Given the description of an element on the screen output the (x, y) to click on. 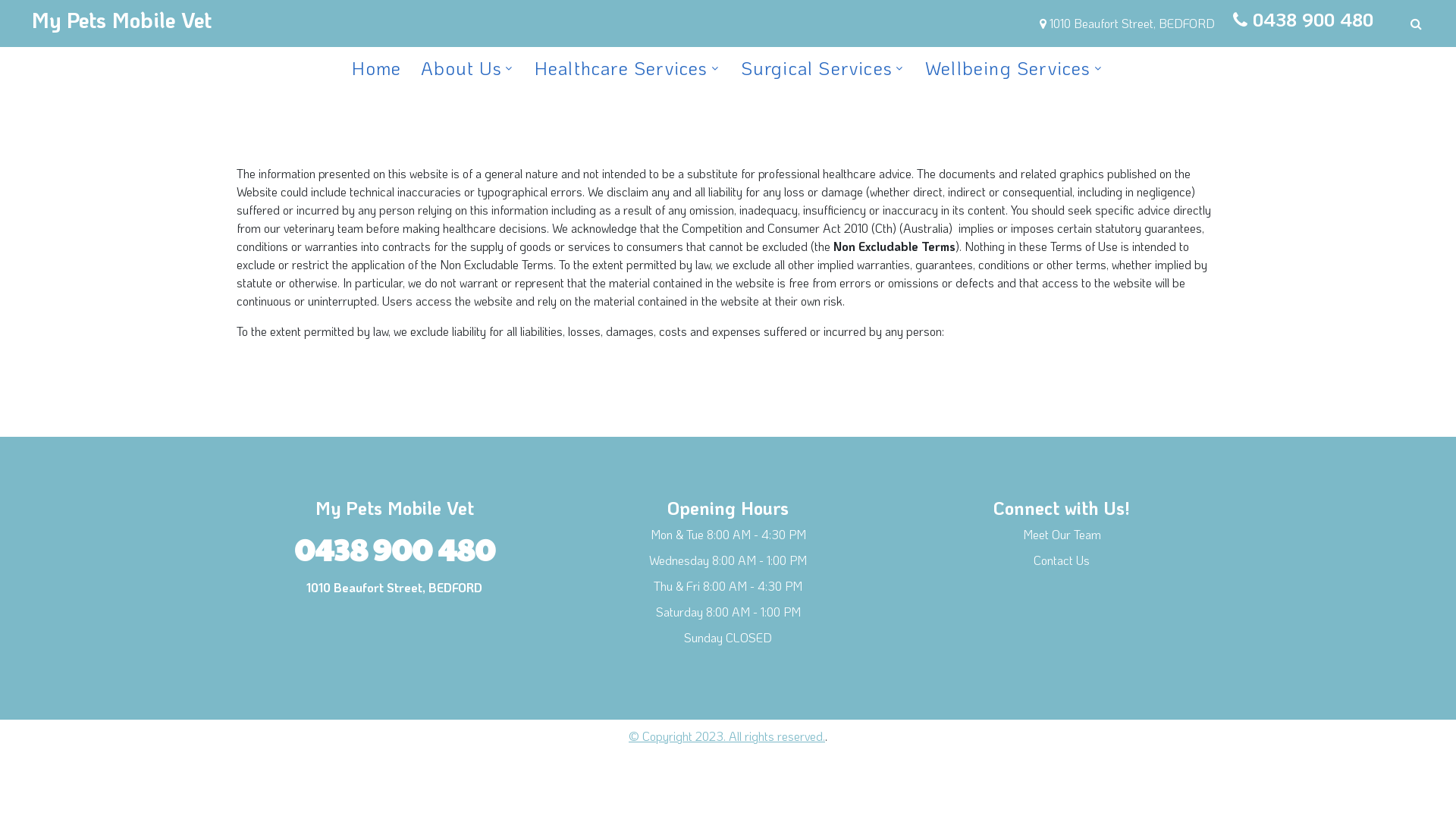
0438 900 480 Element type: text (1312, 19)
Surgical Services Element type: text (816, 67)
Contact Us Element type: text (1061, 559)
Wellbeing Services Element type: text (1008, 67)
About Us Element type: text (461, 67)
0438 900 480 Element type: text (394, 548)
Meet Our Team Element type: text (1061, 534)
Home Element type: text (376, 67)
Healthcare Services Element type: text (621, 67)
